Given the description of an element on the screen output the (x, y) to click on. 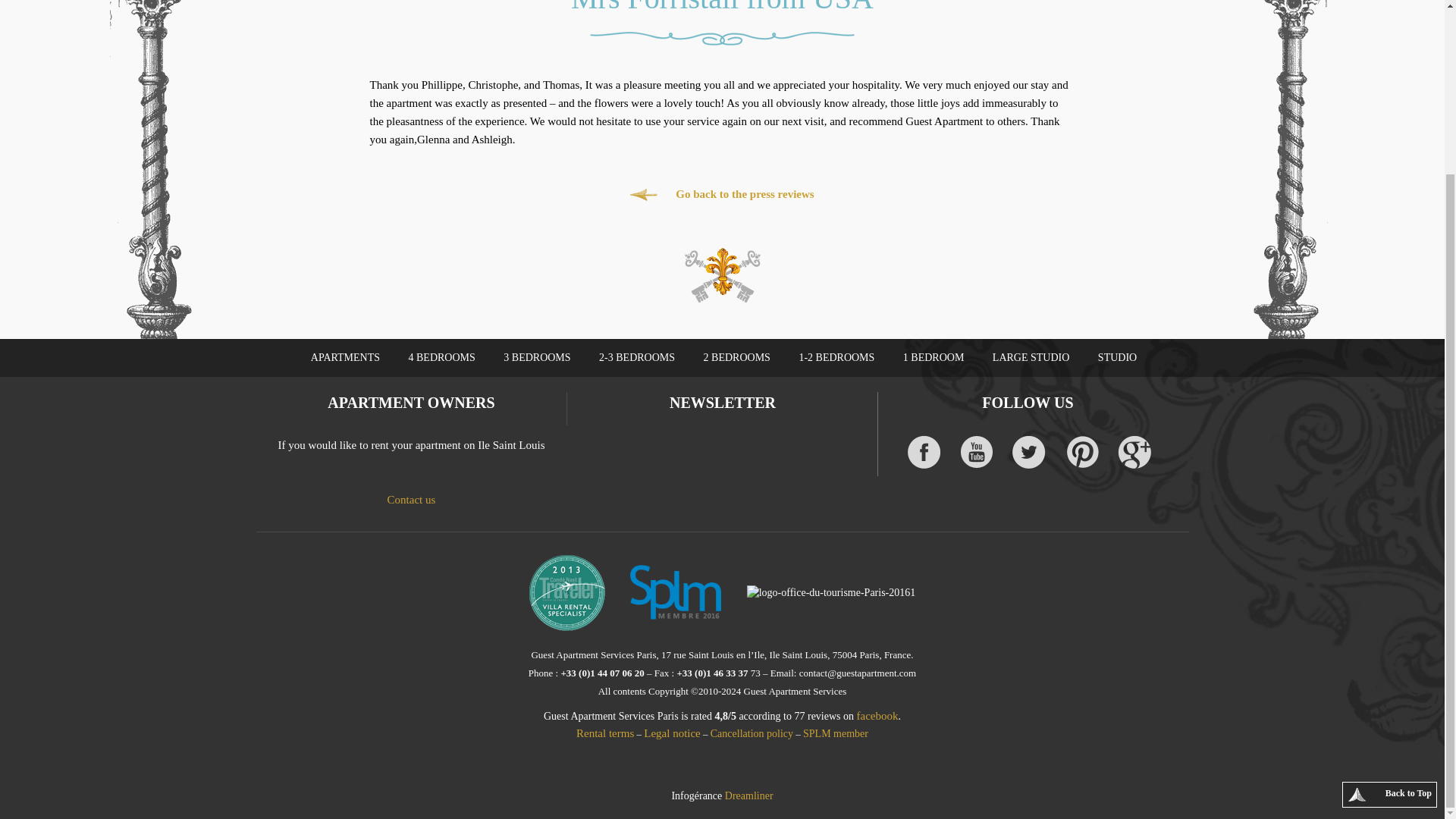
LARGE STUDIO (1031, 357)
2-3 BEDROOMS (636, 357)
Rental terms (604, 733)
SPLM member (835, 733)
Cancellation policy (751, 733)
Go back to the press reviews (721, 194)
2 BEDROOMS (737, 357)
4 BEDROOMS (441, 357)
1 BEDROOM (933, 357)
facebook (877, 715)
APARTMENTS (345, 357)
1-2 BEDROOMS (836, 357)
STUDIO (1117, 357)
3 BEDROOMS (536, 357)
Contact us (411, 499)
